Given the description of an element on the screen output the (x, y) to click on. 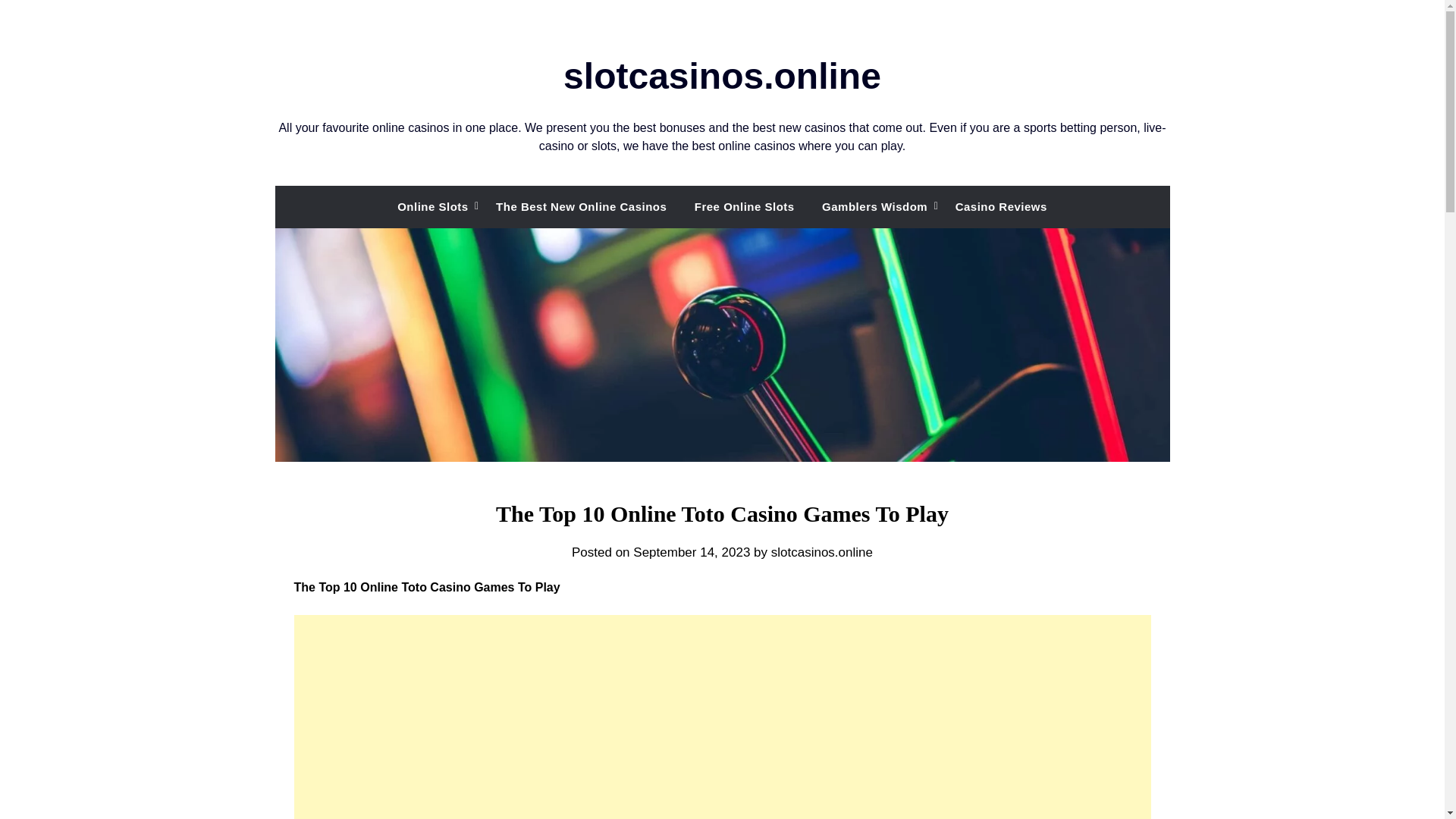
September 14, 2023 (691, 552)
The Best New Online Casinos (580, 206)
Casino Reviews (1001, 206)
Free Online Slots (744, 206)
slotcasinos.online (721, 76)
Gamblers Wisdom (874, 206)
slotcasinos.online (821, 552)
Online Slots (432, 206)
